Given the description of an element on the screen output the (x, y) to click on. 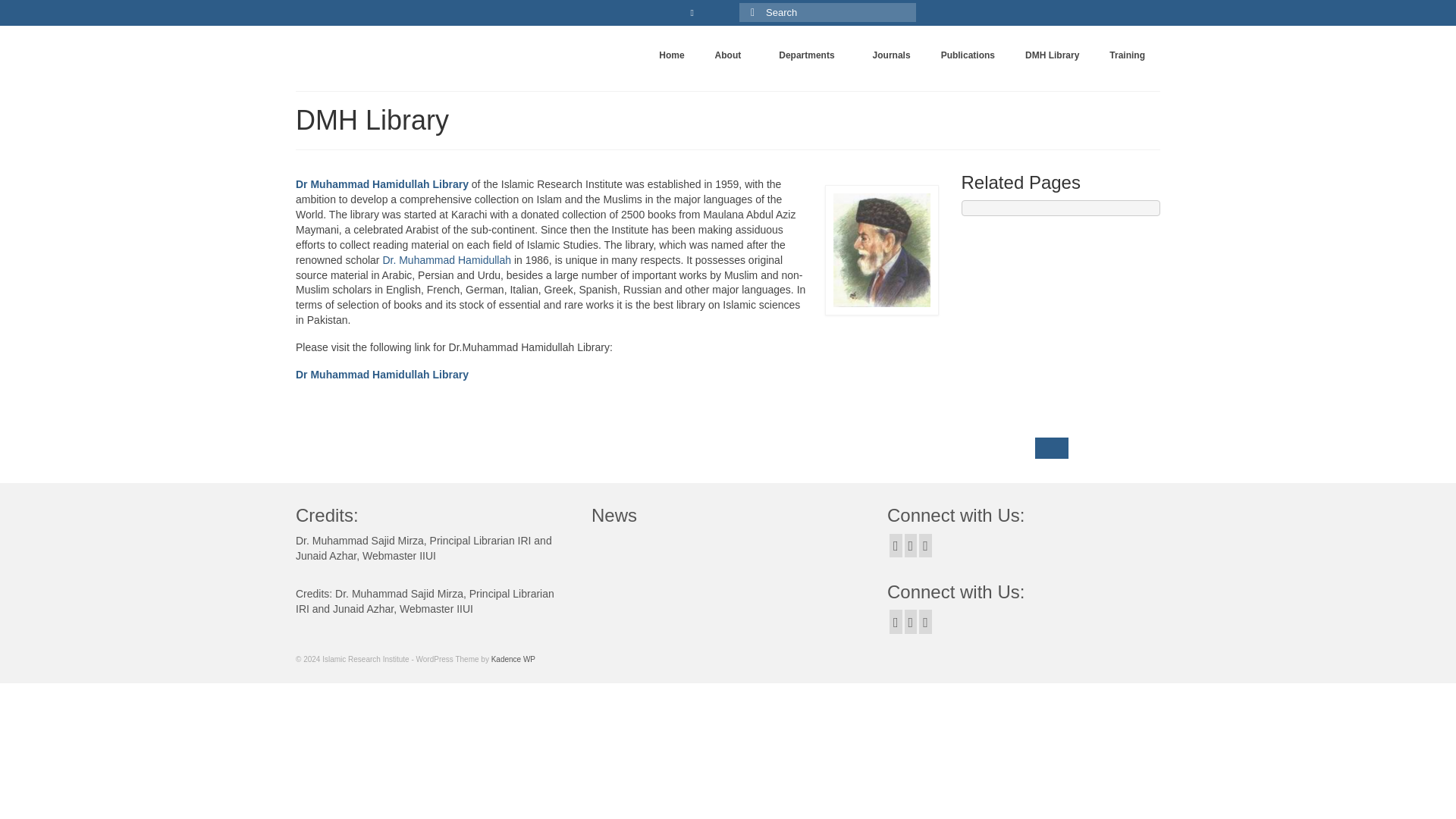
About (732, 54)
Islamic Research Institute (434, 48)
Departments (809, 54)
DMH Library (1052, 54)
Training (1127, 54)
Publications (968, 54)
Journals (891, 54)
Home (670, 54)
